Given the description of an element on the screen output the (x, y) to click on. 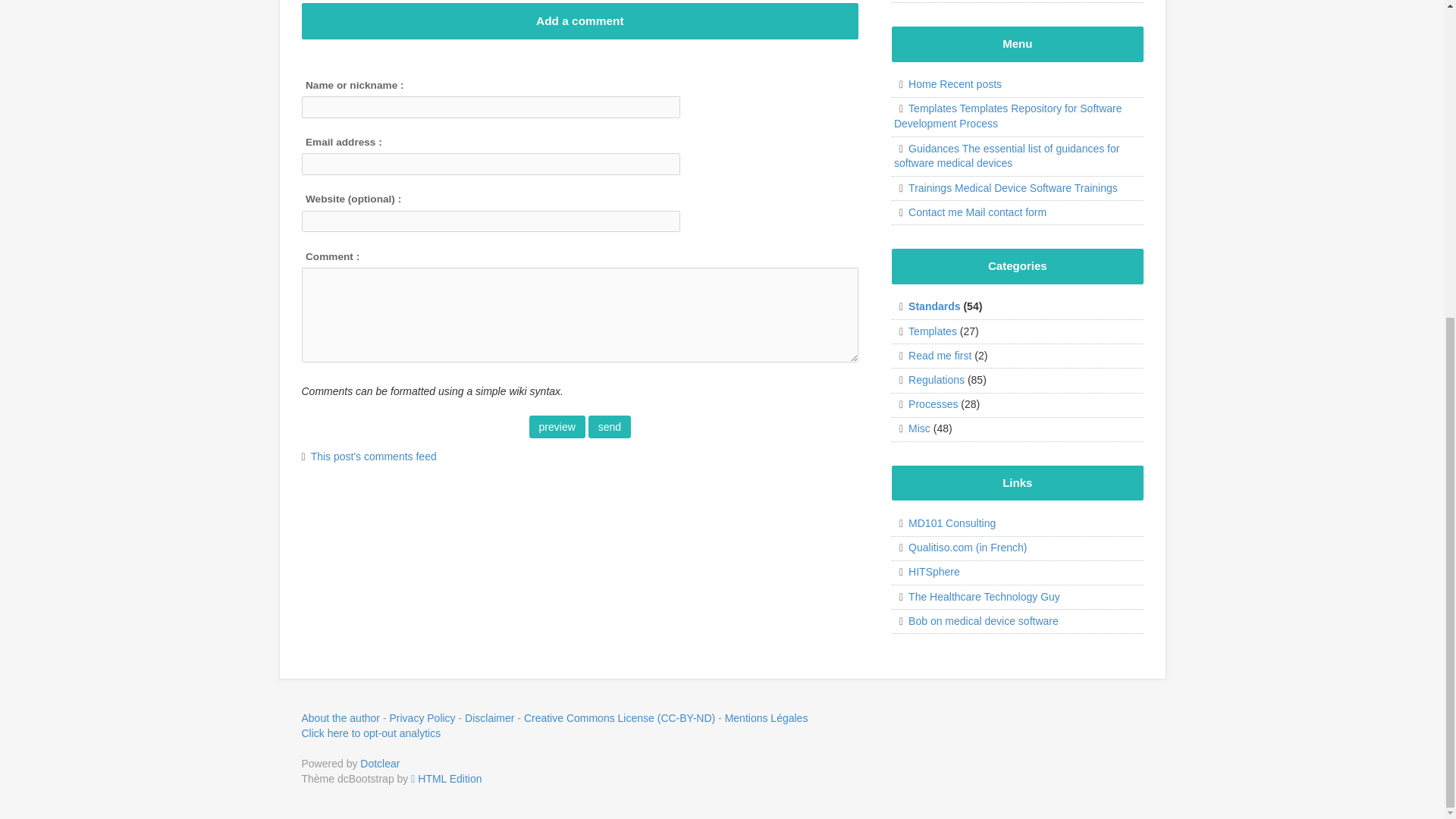
Home Recent posts (947, 83)
preview (557, 426)
send (609, 426)
Regulations (928, 379)
MD101 Consulting (944, 522)
This post's comments feed (368, 456)
About the author (340, 717)
Creative Commons License (619, 717)
Templates (924, 331)
Processes (925, 404)
The blog on medical device software (975, 621)
Privacy Policy (421, 717)
Disclaimer (766, 717)
Standards (926, 306)
